Given the description of an element on the screen output the (x, y) to click on. 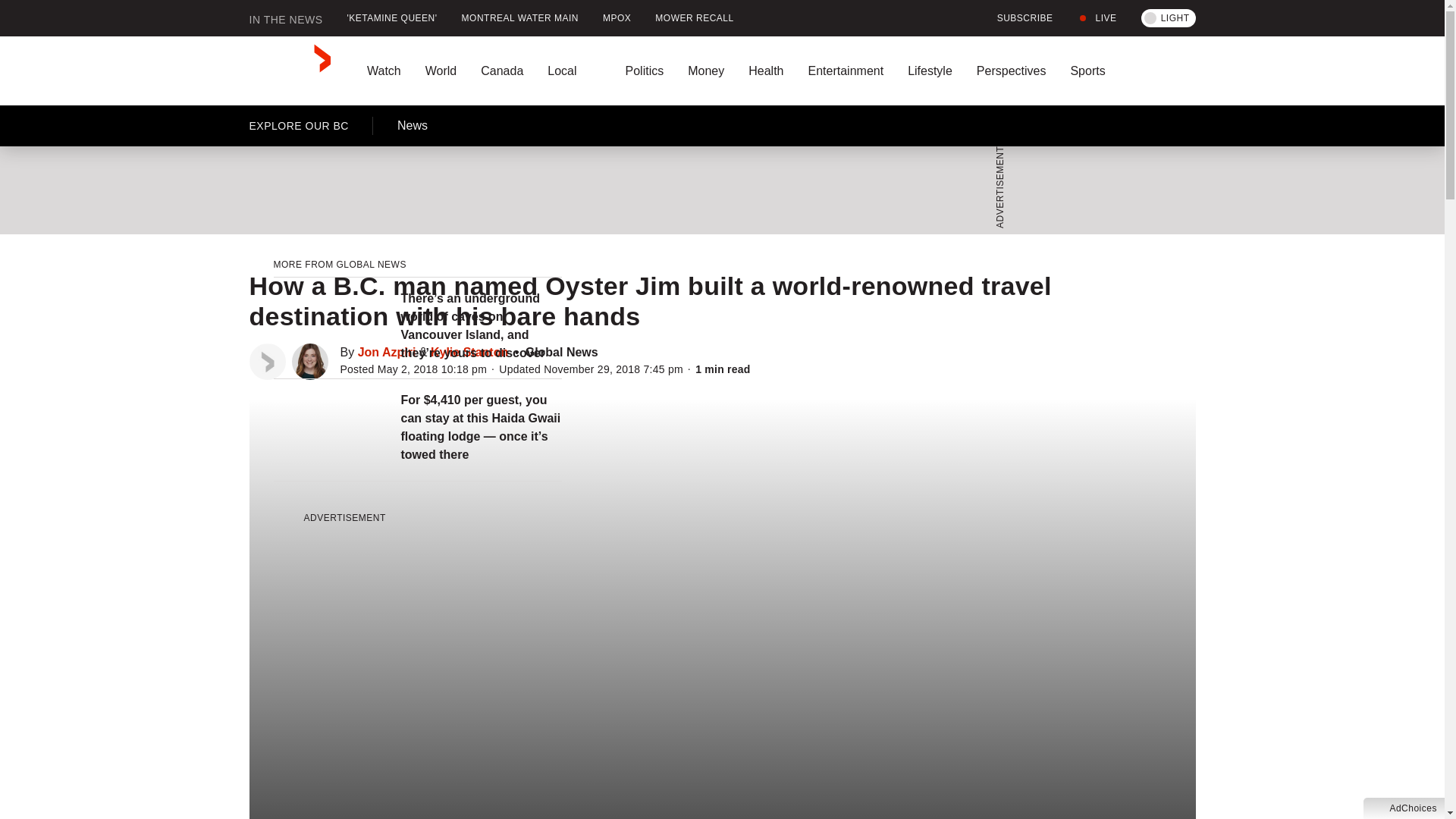
Entertainment (844, 70)
'KETAMINE QUEEN' (391, 18)
Canada (501, 70)
LIVE (1096, 18)
Perspectives (1010, 70)
MOWER RECALL (694, 18)
Posts by Jon Azpiri (387, 352)
Lifestyle (929, 70)
SUBSCRIBE (1015, 18)
Local (573, 70)
